Given the description of an element on the screen output the (x, y) to click on. 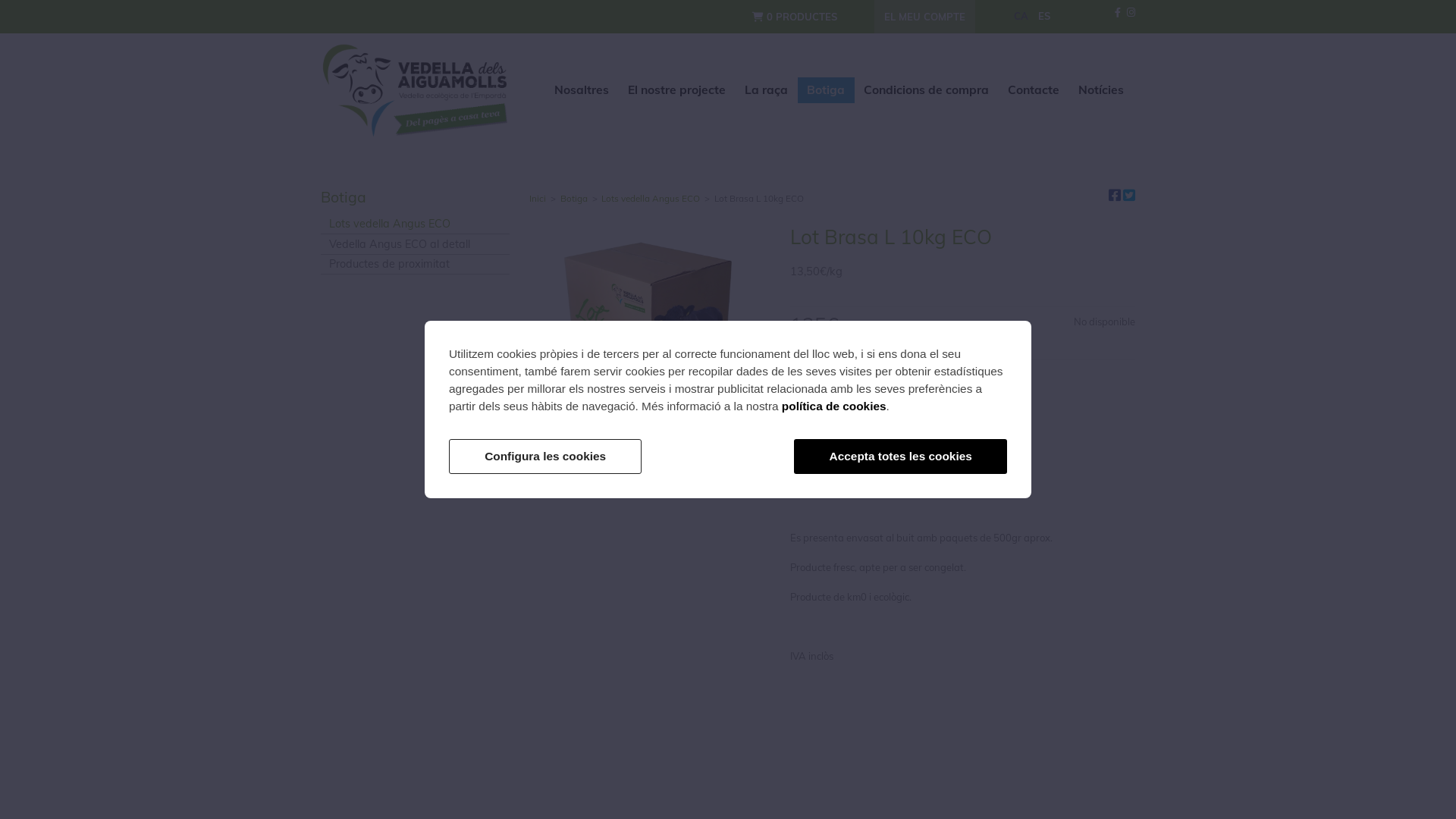
Botiga Element type: text (825, 90)
Lots vedella Angus ECO Element type: text (652, 197)
El nostre projecte Element type: text (676, 90)
0 PRODUCTES Element type: text (793, 16)
Vedella Angus ECO al detall Element type: text (414, 244)
CA Element type: text (1020, 15)
Lots vedella Angus ECO Element type: text (414, 223)
EL MEU COMPTE Element type: text (924, 16)
Compartir a Twitter Element type: text (1129, 195)
Compartir a Facebook Element type: text (1114, 195)
Facebook VEDELLA DELS AIGUAMOLLS Element type: text (1117, 12)
Productes de proximitat Element type: text (414, 264)
Contacte Element type: text (1033, 90)
Instagram VEDELLA DELS AIGUAMOLLS Element type: text (1130, 12)
ES Element type: text (1044, 15)
Botiga Element type: text (576, 197)
Accepta totes les cookies Element type: text (900, 456)
Configura les cookies Element type: text (544, 456)
Inici Element type: text (539, 197)
Nosaltres Element type: text (581, 90)
Condicions de compra Element type: text (926, 90)
VEDELLA DELS AIGUAMOLLS Element type: hover (414, 90)
